Given the description of an element on the screen output the (x, y) to click on. 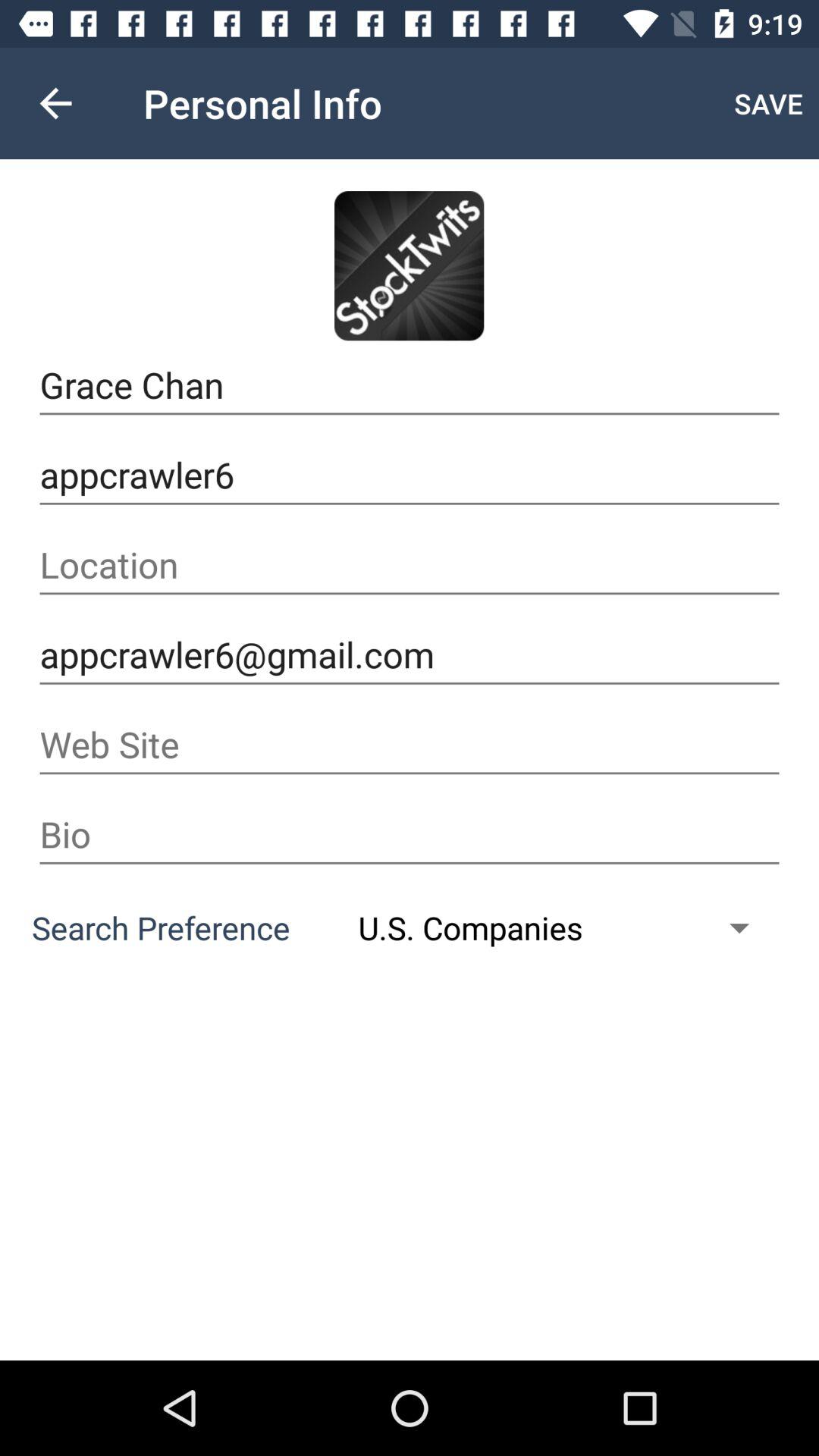
click the item below the appcrawler6@gmail.com item (409, 744)
